Given the description of an element on the screen output the (x, y) to click on. 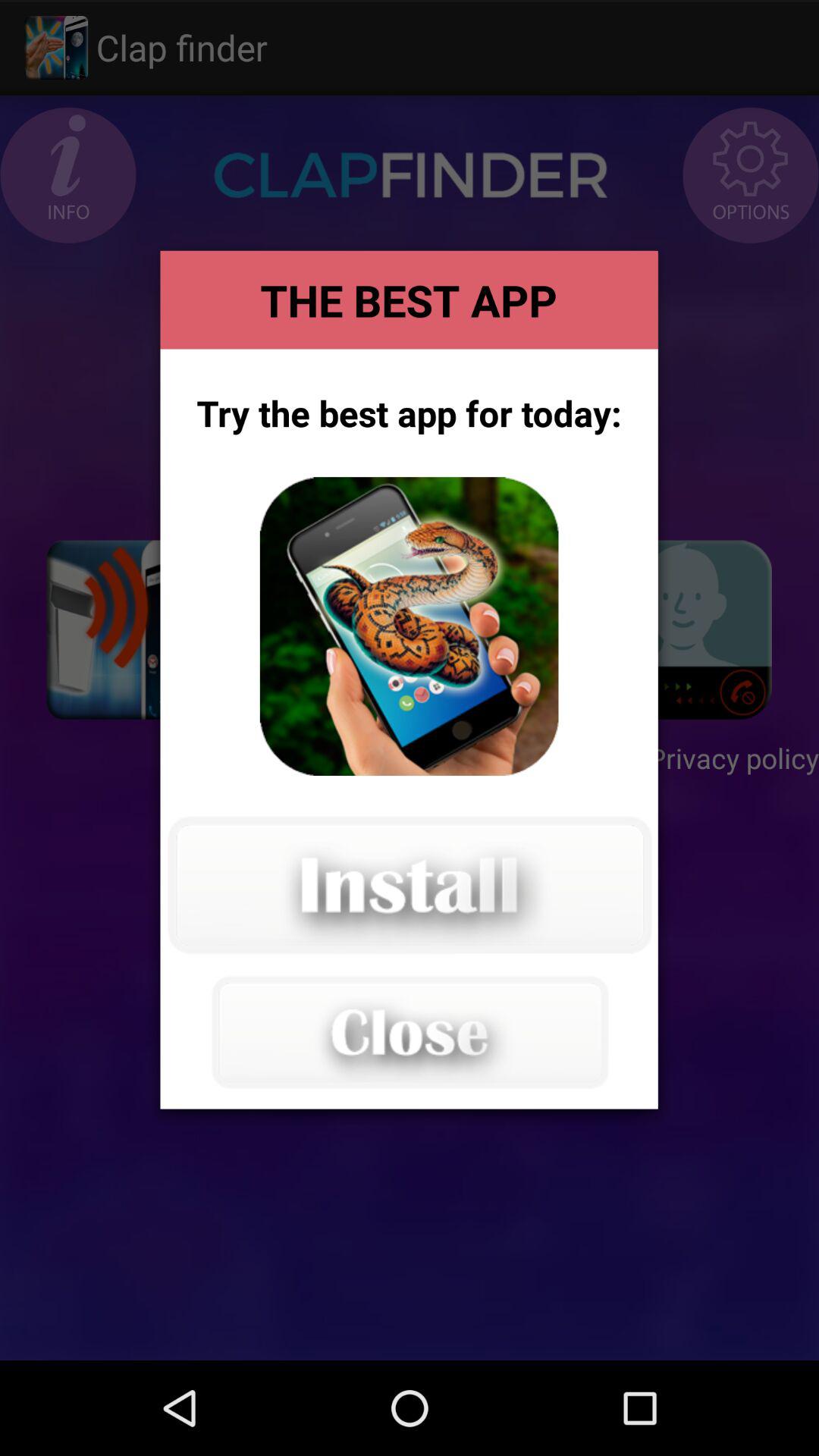
click icon for more information (408, 626)
